Given the description of an element on the screen output the (x, y) to click on. 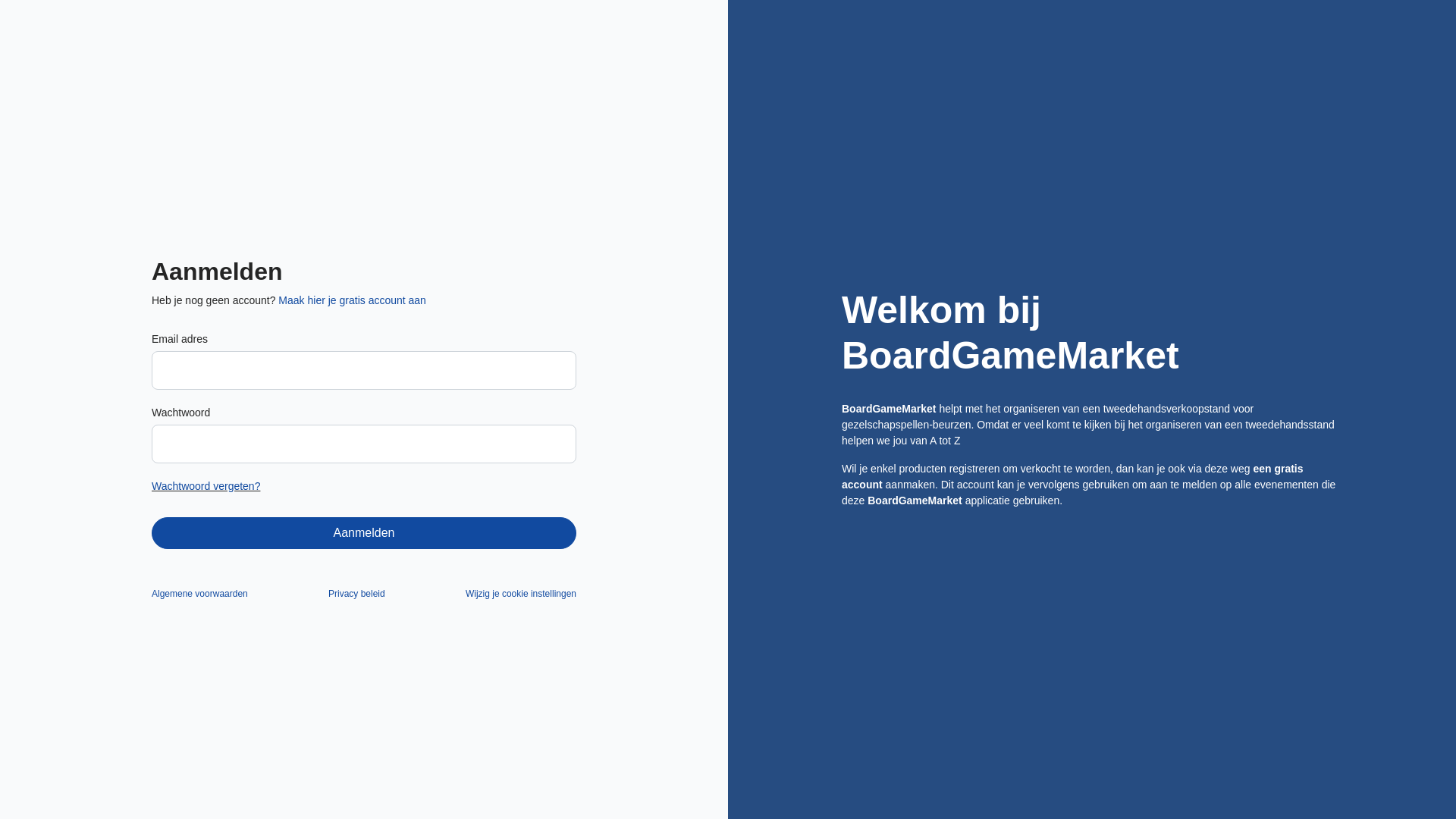
Algemene voorwaarden Element type: text (199, 593)
Maak hier je gratis account aan Element type: text (352, 300)
Aanmelden Element type: text (363, 533)
Wijzig je cookie instellingen Element type: text (520, 593)
Privacy beleid Element type: text (356, 593)
Wachtwoord vergeten? Element type: text (205, 486)
